Given the description of an element on the screen output the (x, y) to click on. 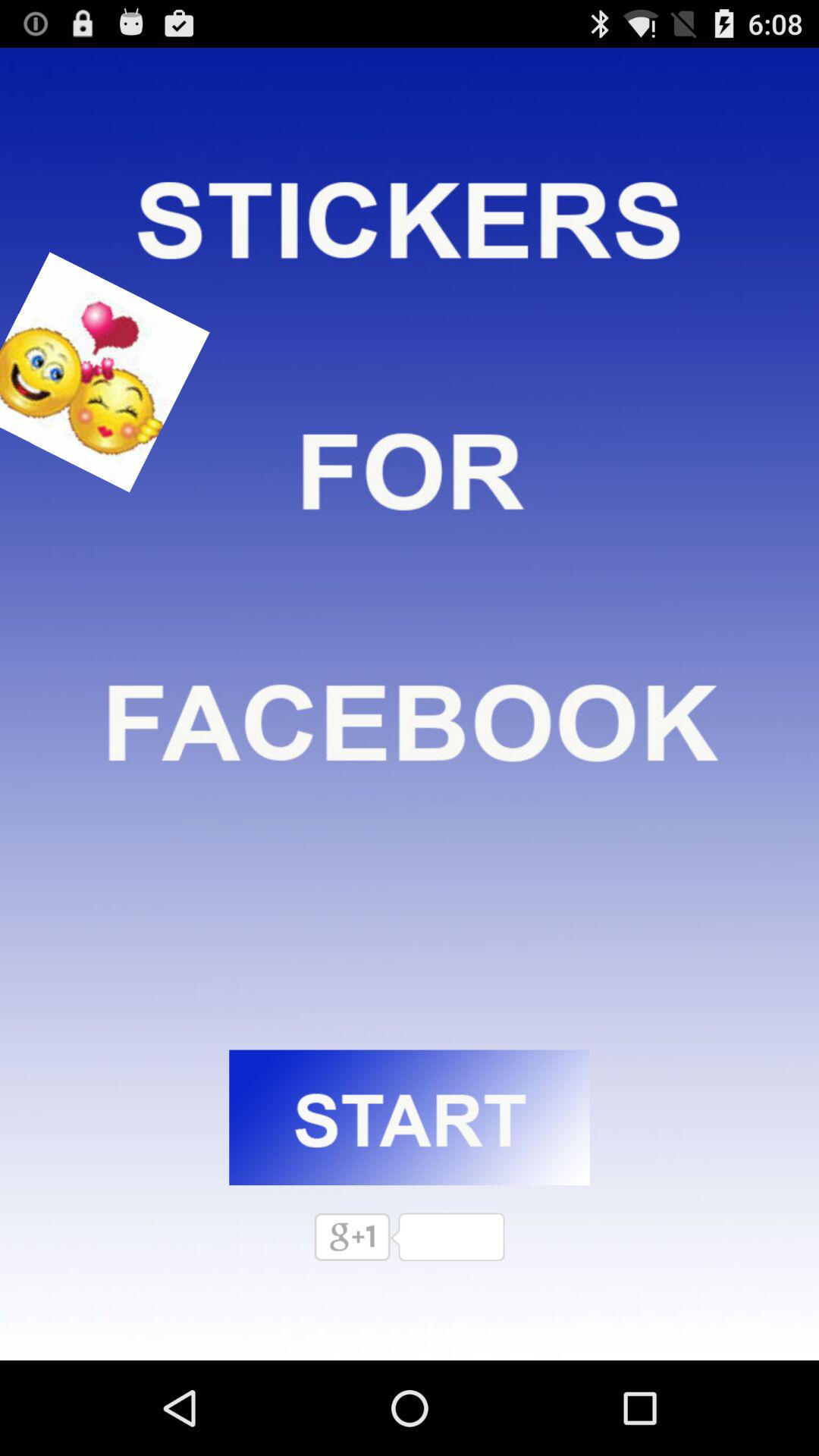
start a new sticker (409, 1117)
